Given the description of an element on the screen output the (x, y) to click on. 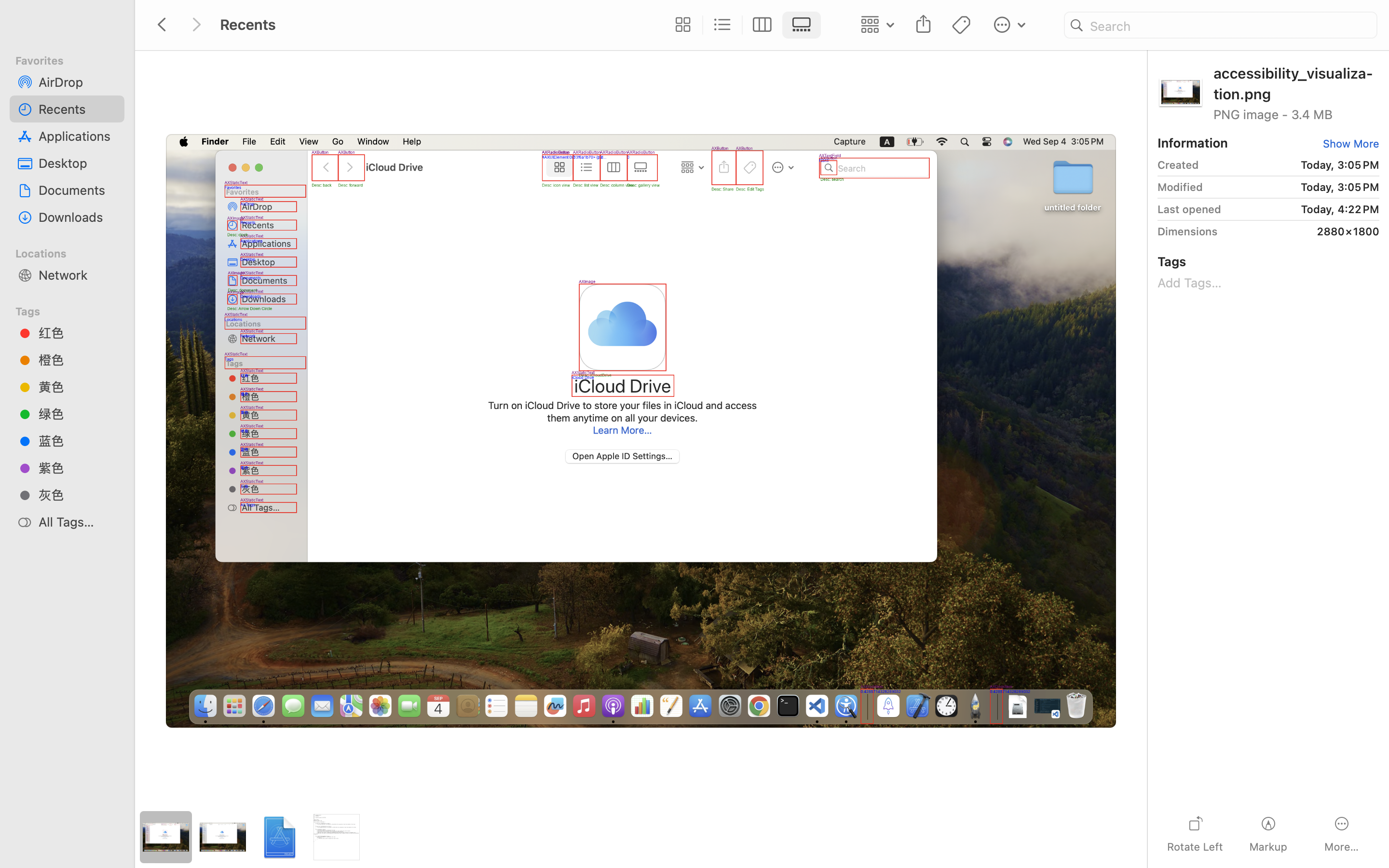
紫色 Element type: AXStaticText (77, 467)
黄色 Element type: AXStaticText (77, 386)
Applications Element type: AXStaticText (77, 135)
Downloads Element type: AXStaticText (77, 216)
0 Element type: AXCheckBox (1348, 143)
